Given the description of an element on the screen output the (x, y) to click on. 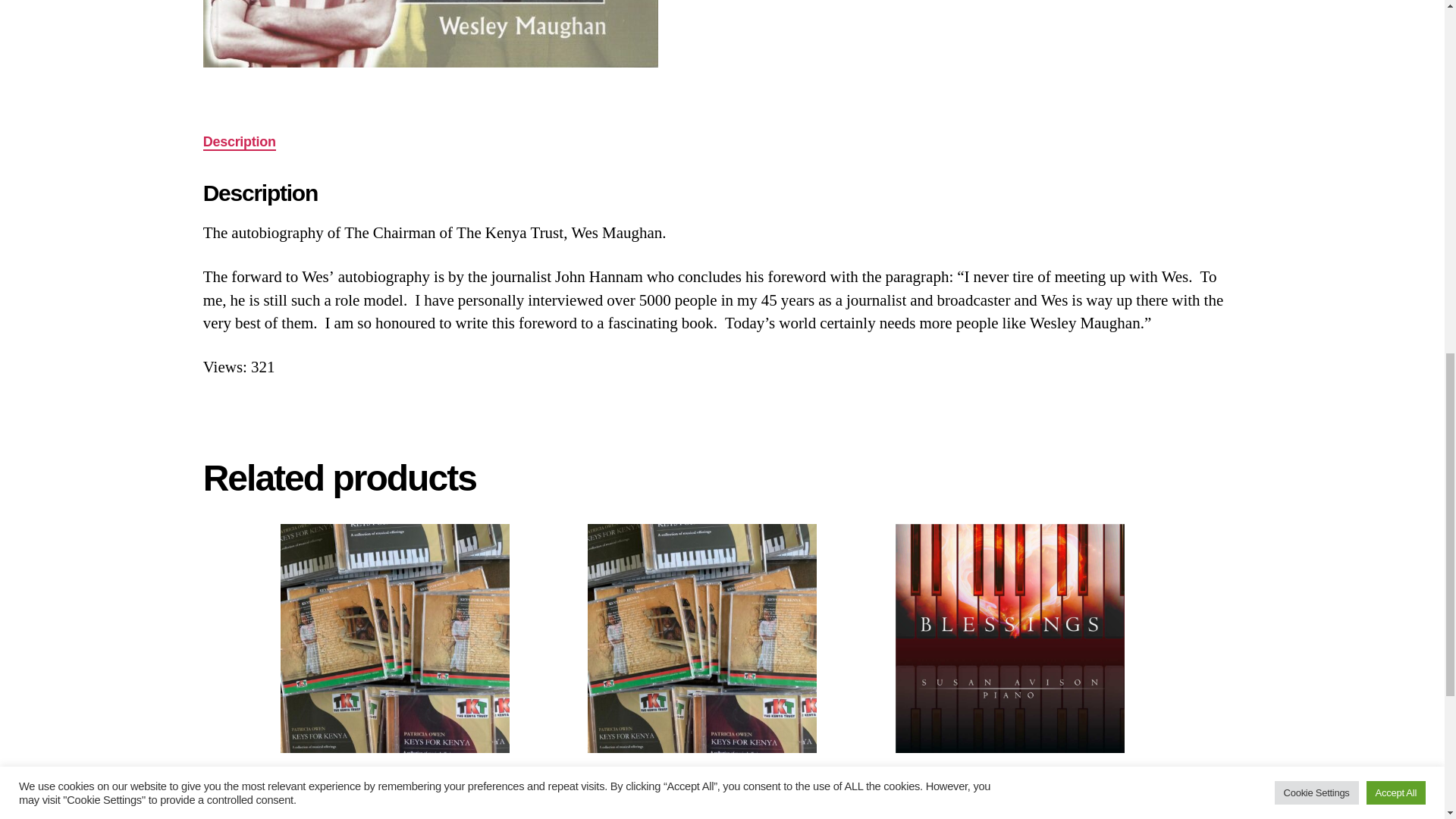
Wes Book Cover (430, 33)
